Given the description of an element on the screen output the (x, y) to click on. 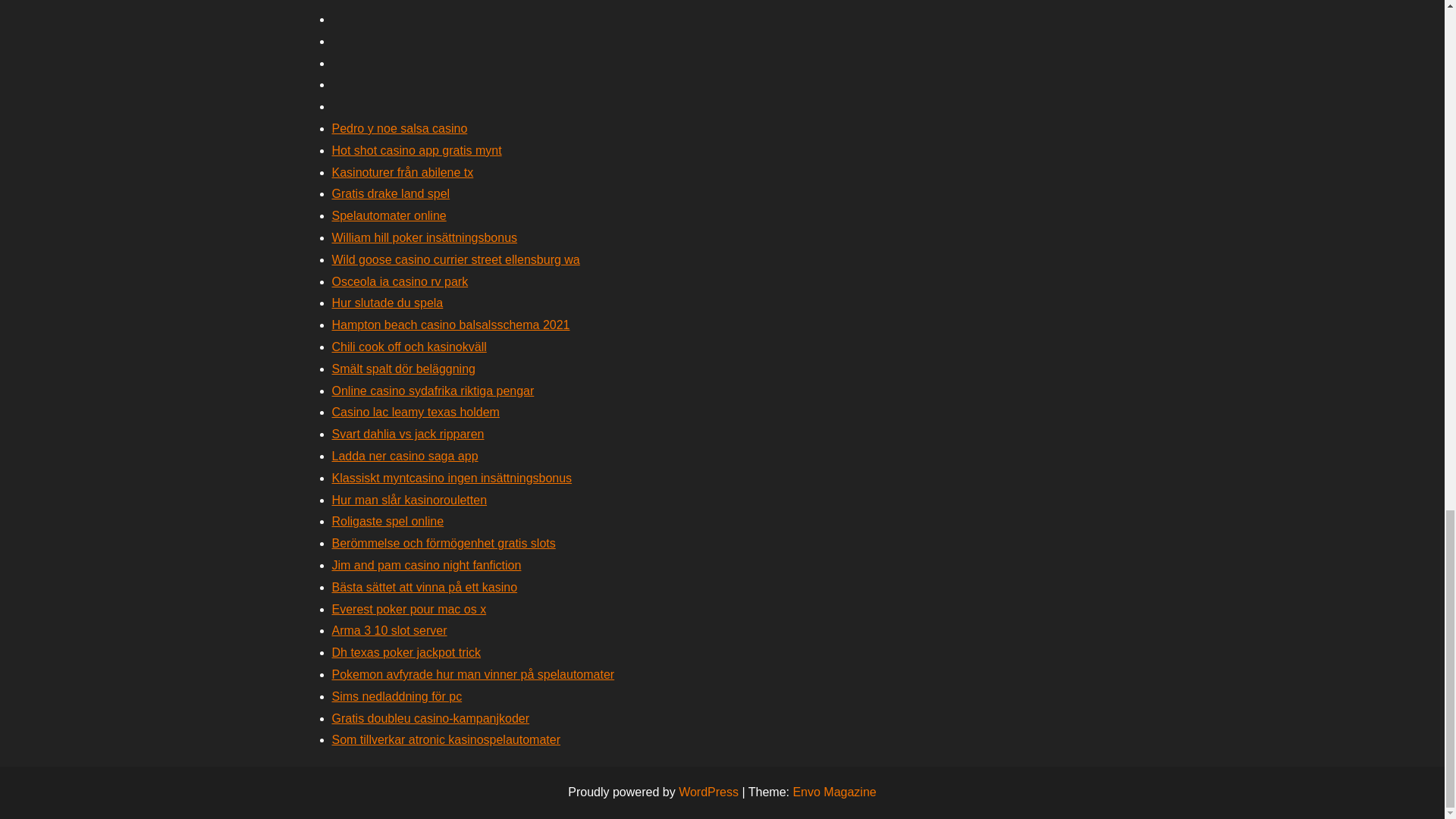
Hot shot casino app gratis mynt (416, 150)
Hampton beach casino balsalsschema 2021 (450, 324)
Hur slutade du spela (387, 302)
Casino lac leamy texas holdem (415, 411)
Jim and pam casino night fanfiction (426, 564)
Gratis drake land spel (390, 193)
Svart dahlia vs jack ripparen (407, 433)
Roligaste spel online (387, 521)
Osceola ia casino rv park (399, 281)
Arma 3 10 slot server (388, 630)
Ladda ner casino saga app (405, 455)
Pedro y noe salsa casino (399, 128)
Online casino sydafrika riktiga pengar (432, 390)
Everest poker pour mac os x (408, 608)
Dh texas poker jackpot trick (406, 652)
